Given the description of an element on the screen output the (x, y) to click on. 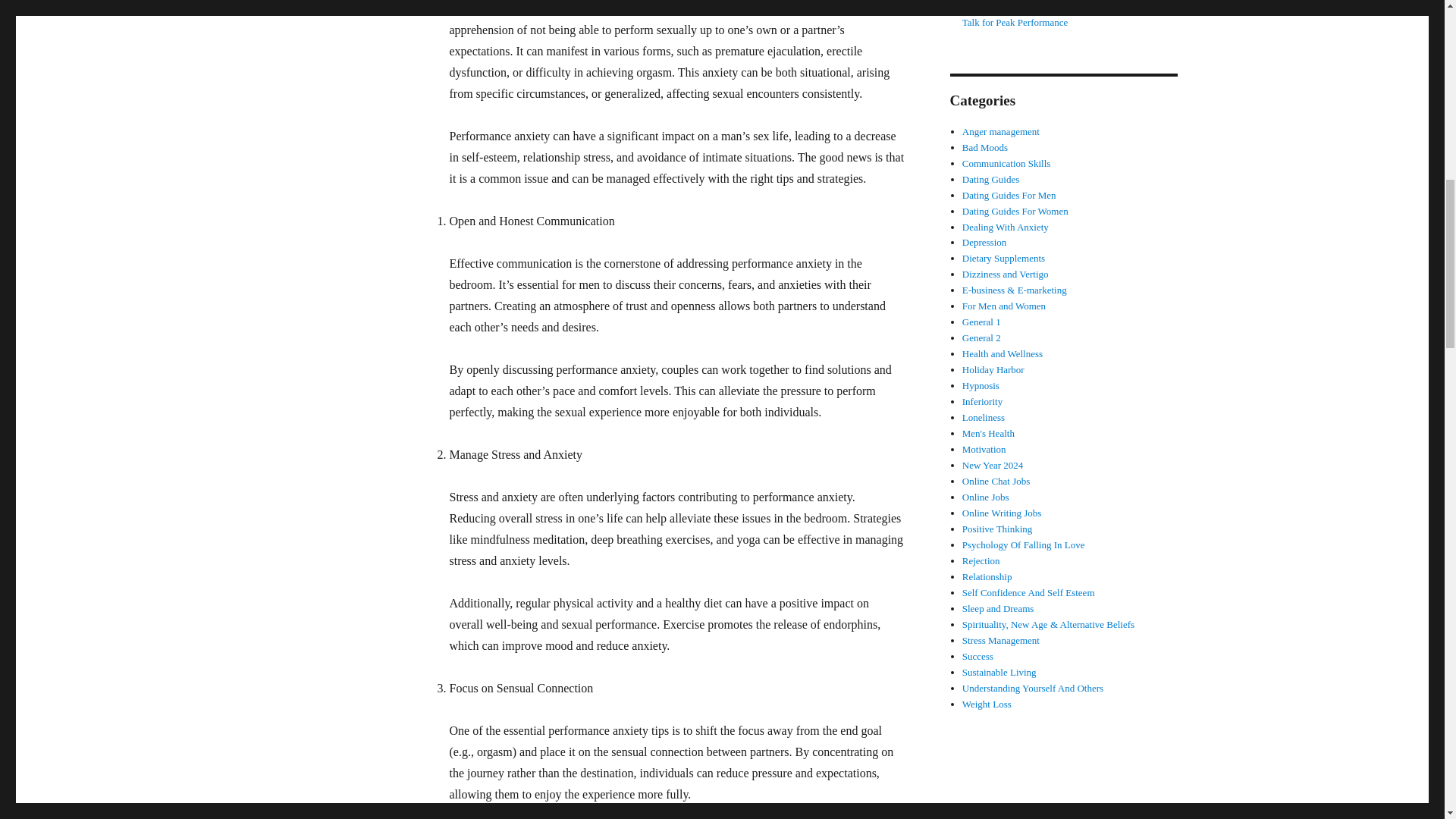
Holiday Harbor (993, 369)
Dating Guides For Men (1009, 194)
Dating Guides (990, 179)
Hypnosis (980, 385)
Depression (984, 242)
Motivation (984, 449)
Anger management (1000, 131)
Dizziness and Vertigo (1005, 274)
Dating Guides For Women (1015, 211)
Loneliness (983, 417)
General 1 (981, 321)
Online Chat Jobs (996, 480)
Inferiority (982, 401)
For Men and Women (1003, 306)
Dealing With Anxiety (1005, 226)
